Given the description of an element on the screen output the (x, y) to click on. 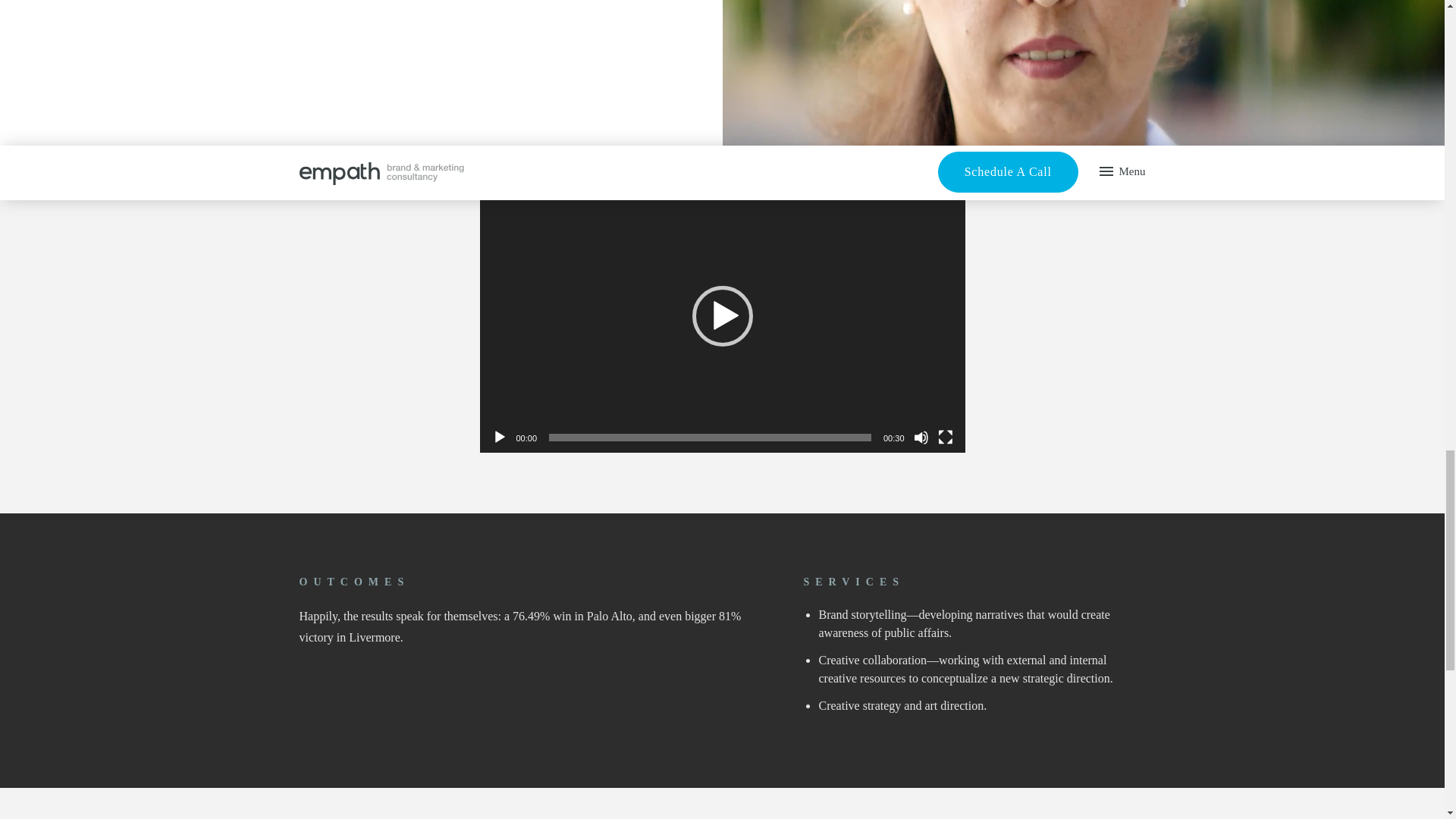
Mute (920, 437)
Play (499, 437)
Fullscreen (944, 437)
